Given the description of an element on the screen output the (x, y) to click on. 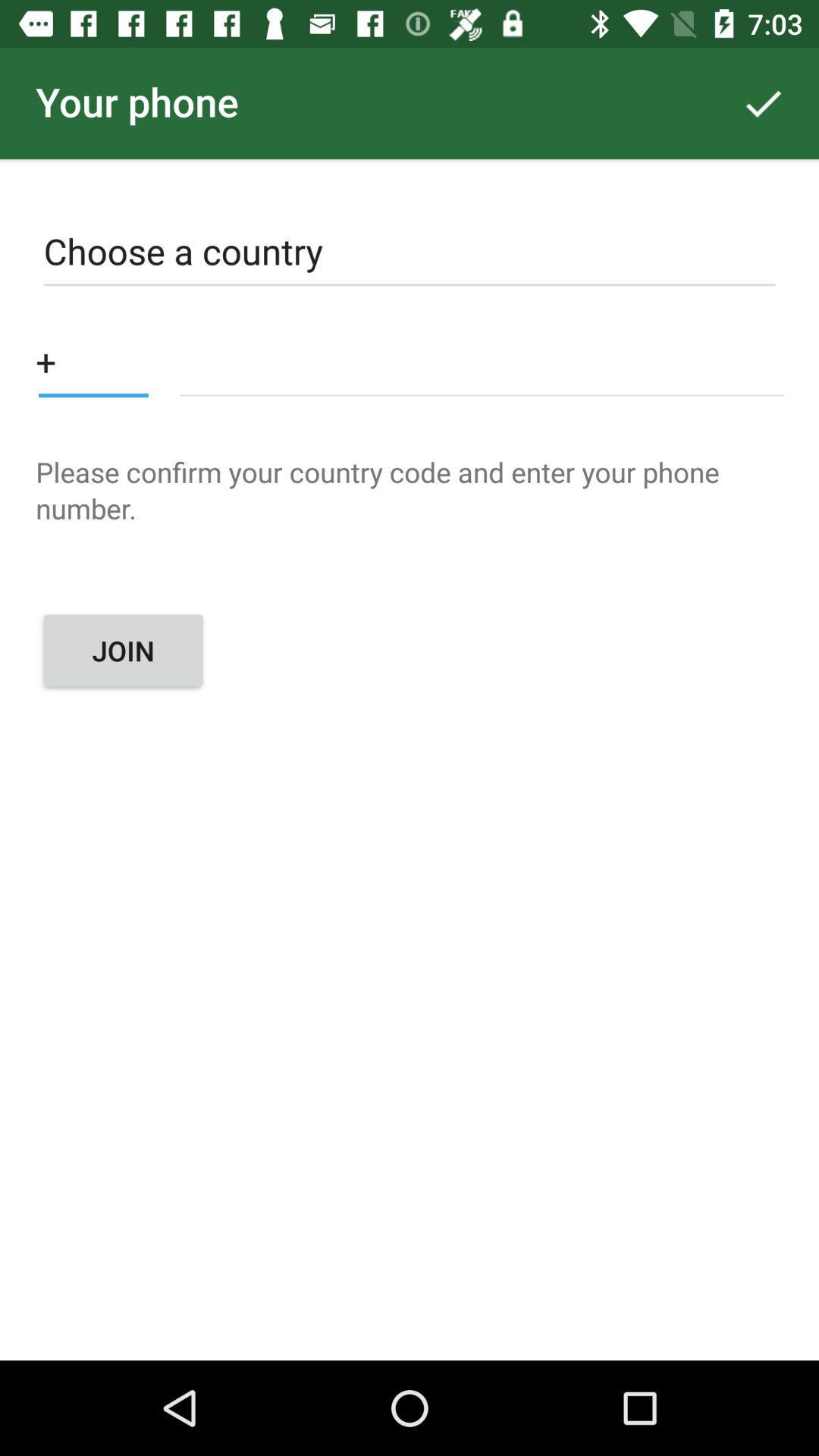
flip to the choose a country (409, 254)
